Given the description of an element on the screen output the (x, y) to click on. 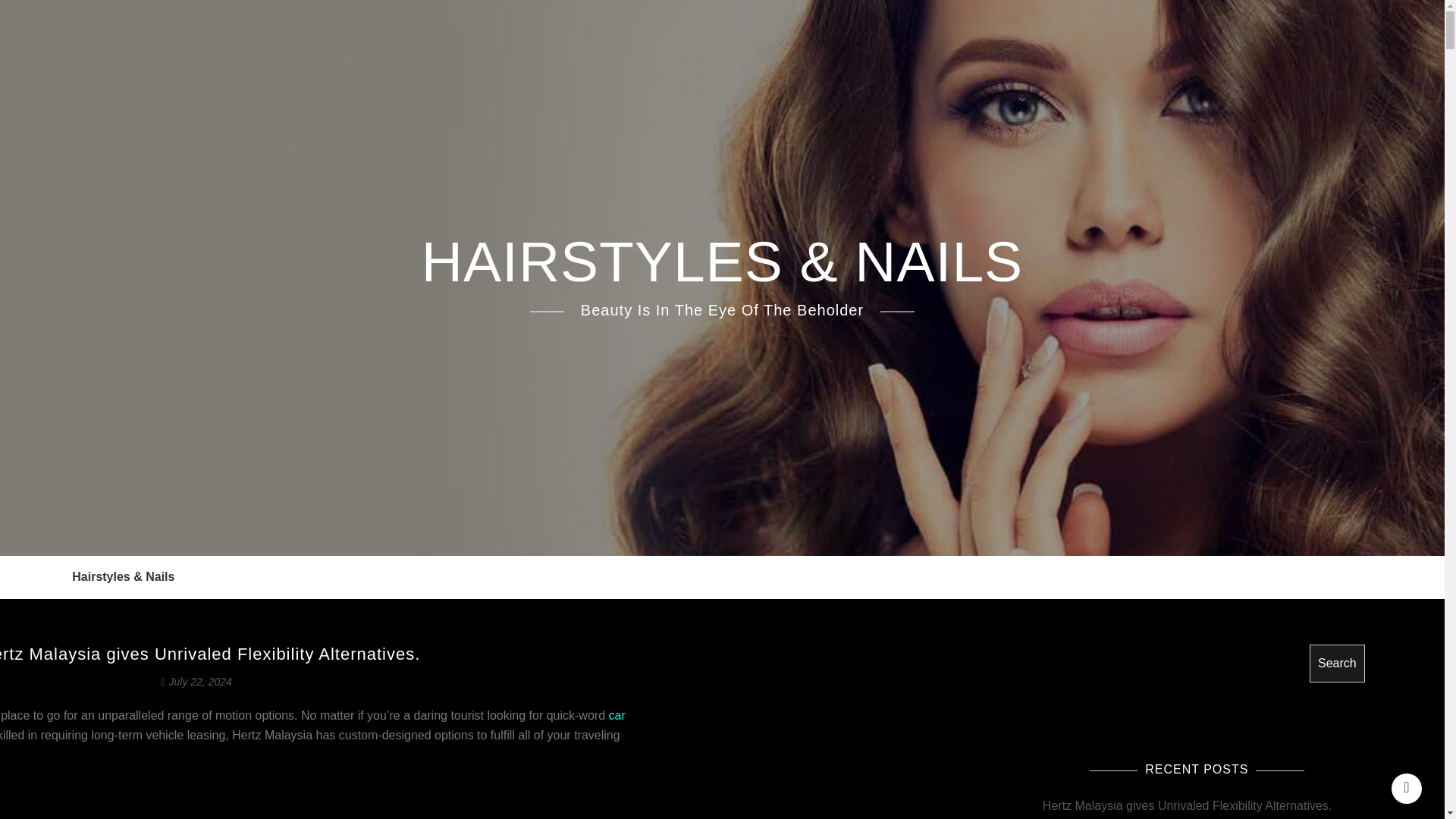
Go to Top (1406, 788)
car rental (52, 725)
Search (1337, 614)
